Given the description of an element on the screen output the (x, y) to click on. 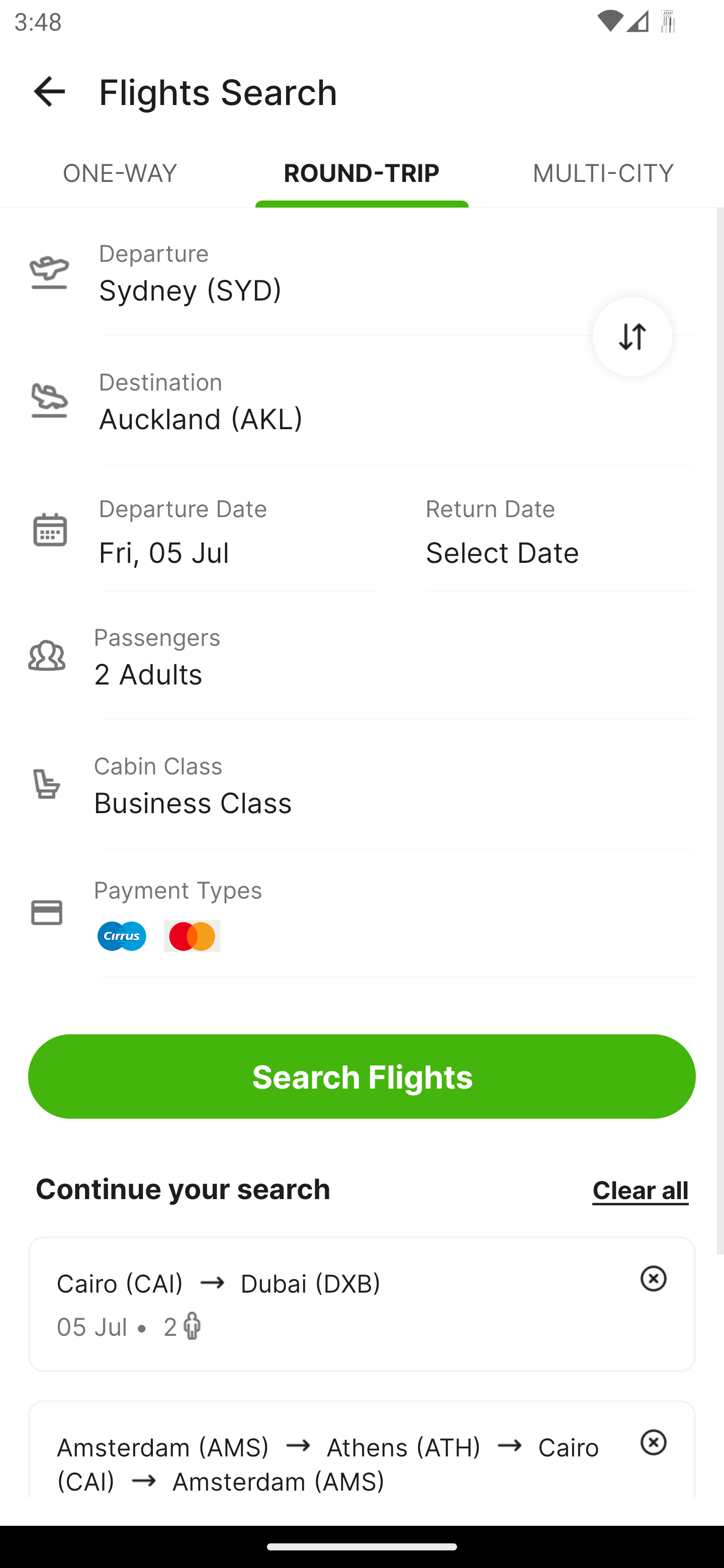
ONE-WAY (120, 180)
ROUND-TRIP (361, 180)
MULTI-CITY (603, 180)
Departure Sydney (SYD) (362, 270)
Destination Auckland (AKL) (362, 400)
Departure Date Fri, 05 Jul (247, 528)
Return Date Select Date (546, 528)
Passengers 2 Adults (362, 655)
Cabin Class Business Class (362, 783)
Payment Types (362, 912)
Search Flights (361, 1075)
Clear all (640, 1189)
Cairo (CAI)  arrowIcon  Dubai (DXB) 05 Jul •  2  (361, 1303)
